Given the description of an element on the screen output the (x, y) to click on. 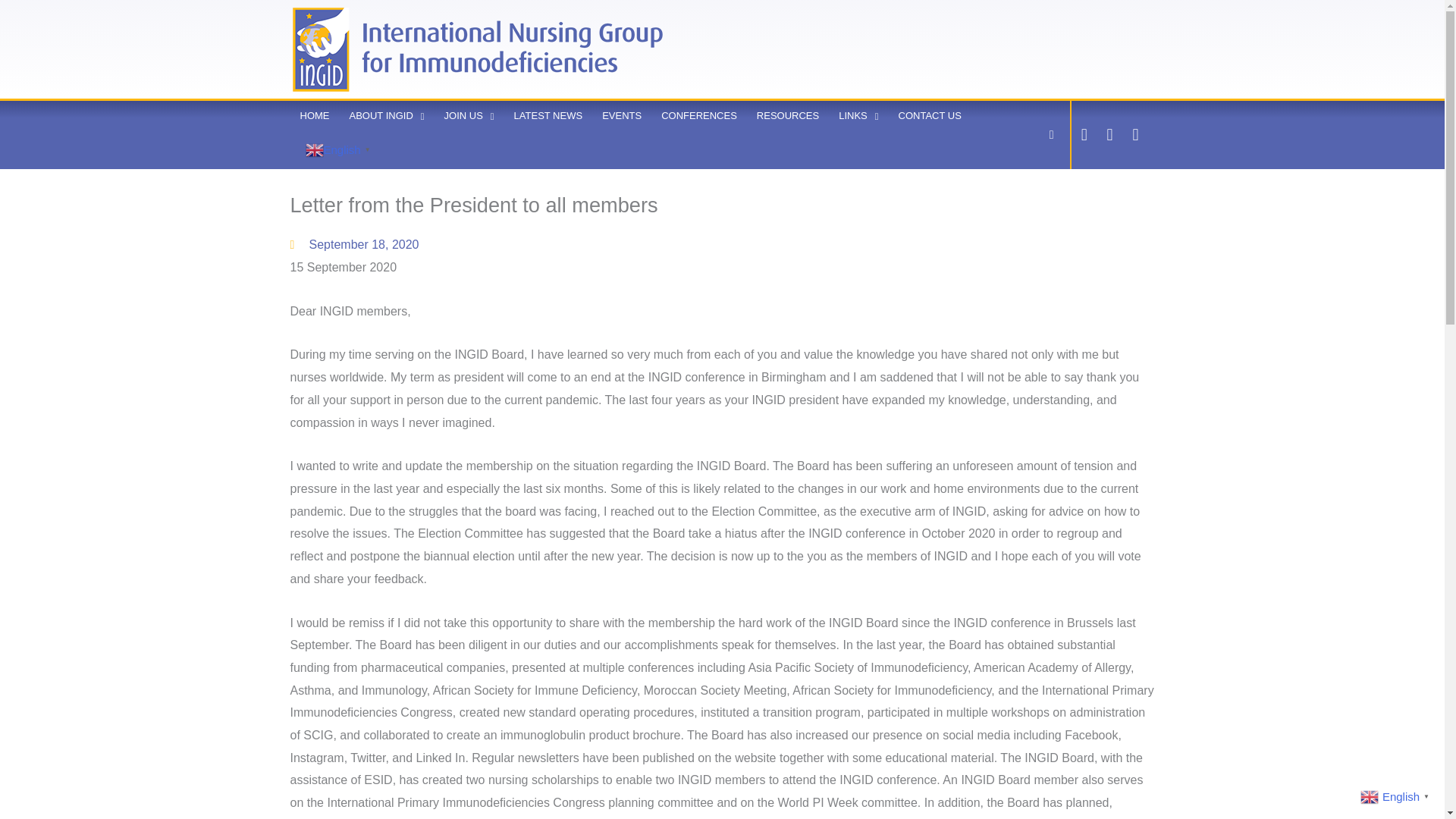
HOME (314, 115)
JOIN US (468, 115)
CONTACT US (929, 115)
LINKS (858, 115)
RESOURCES (787, 115)
ABOUT INGID (386, 115)
CONFERENCES (698, 115)
LATEST NEWS (547, 115)
International Nursing Group for Immunodeficiencies Logo (478, 49)
EVENTS (621, 115)
